Given the description of an element on the screen output the (x, y) to click on. 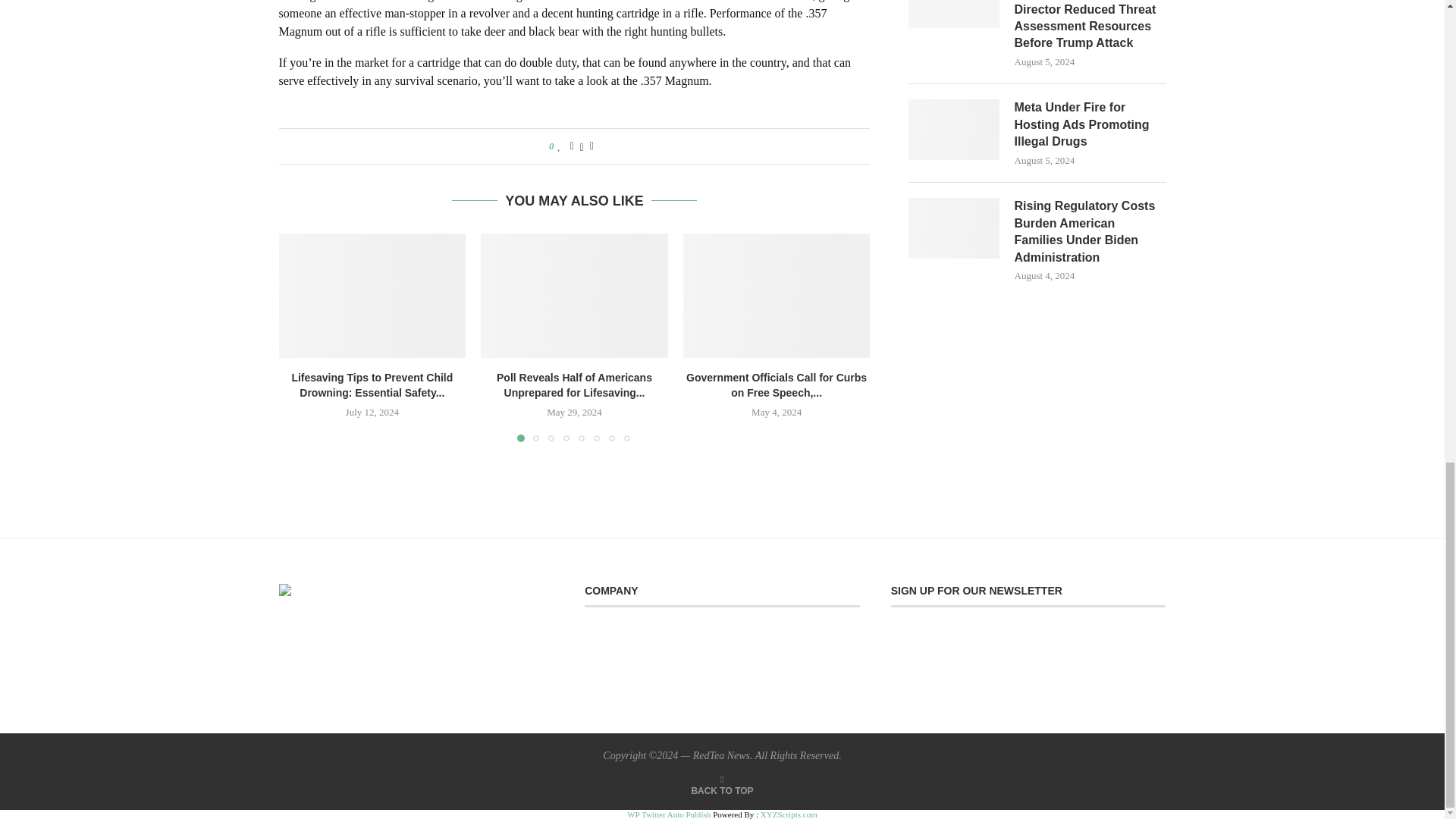
Like (558, 146)
Poll Reveals Half of Americans Unprepared for Lifesaving... (574, 384)
